Given the description of an element on the screen output the (x, y) to click on. 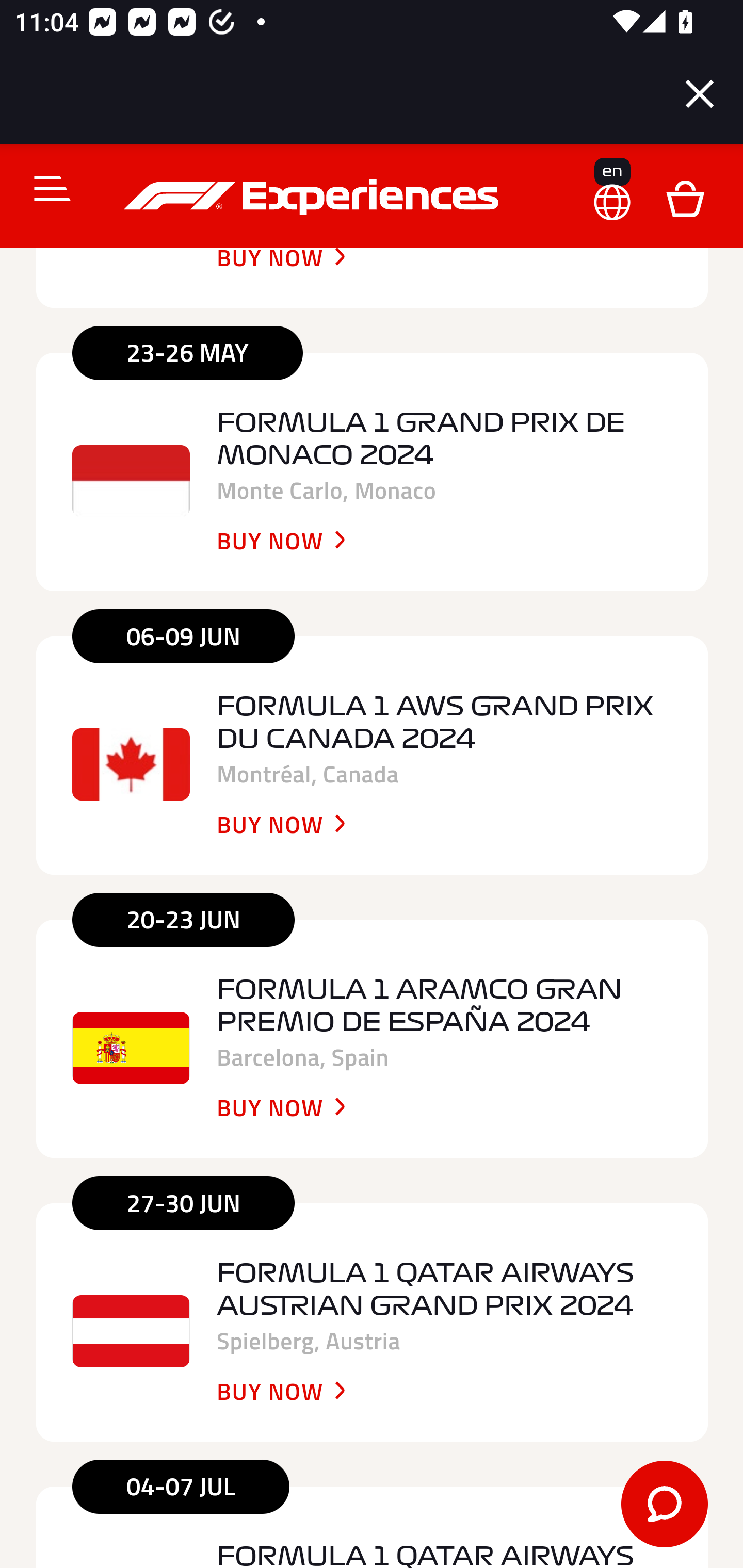
Close (699, 93)
Toggle navigation C (43, 189)
D (684, 198)
f1experiences (313, 197)
